Given the description of an element on the screen output the (x, y) to click on. 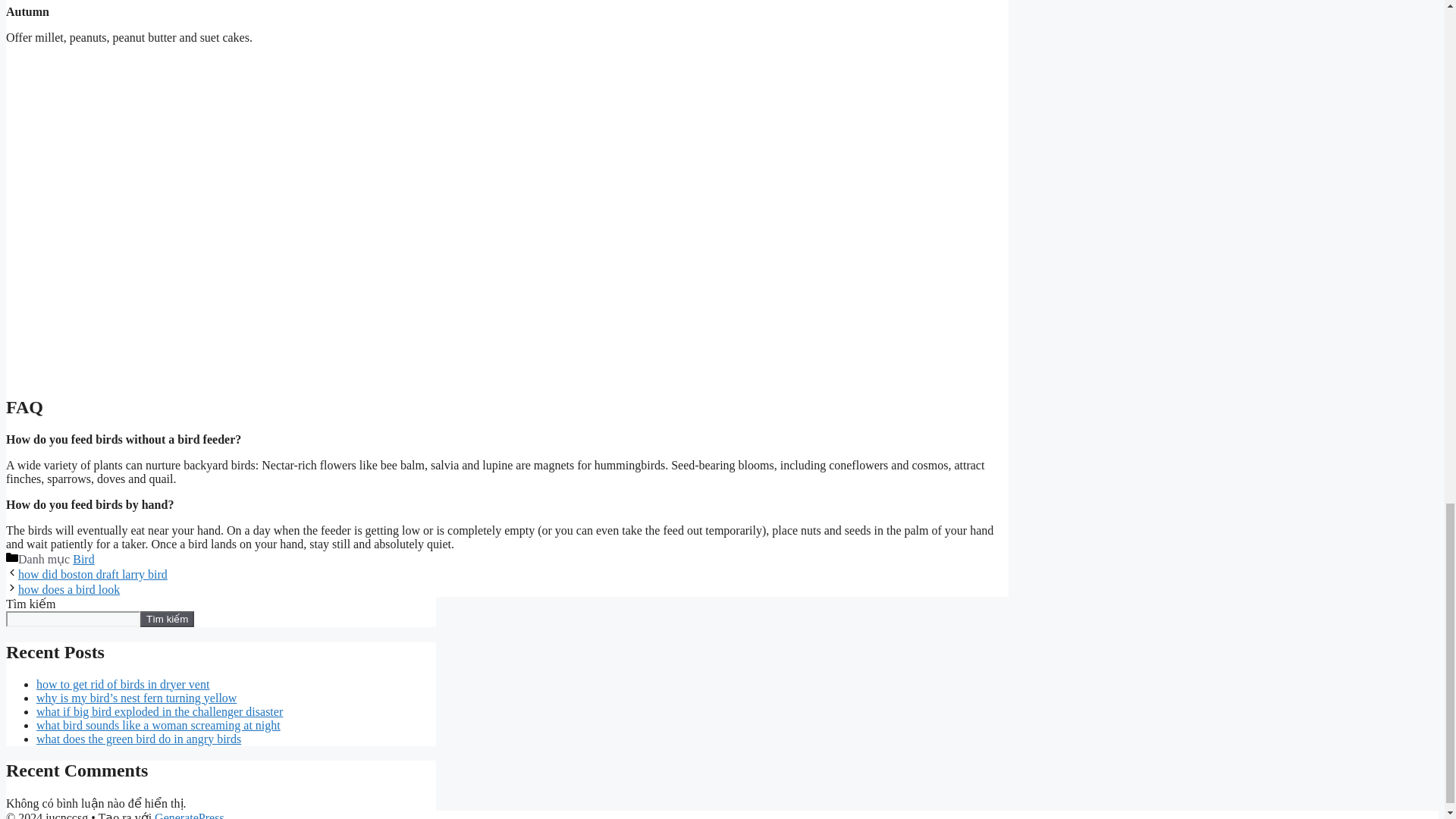
what bird sounds like a woman screaming at night (158, 725)
how does a bird look (68, 589)
what if big bird exploded in the challenger disaster (159, 711)
how did boston draft larry bird (92, 574)
Bird (83, 558)
what does the green bird do in angry birds (138, 738)
how to get rid of birds in dryer vent (122, 684)
